Given the description of an element on the screen output the (x, y) to click on. 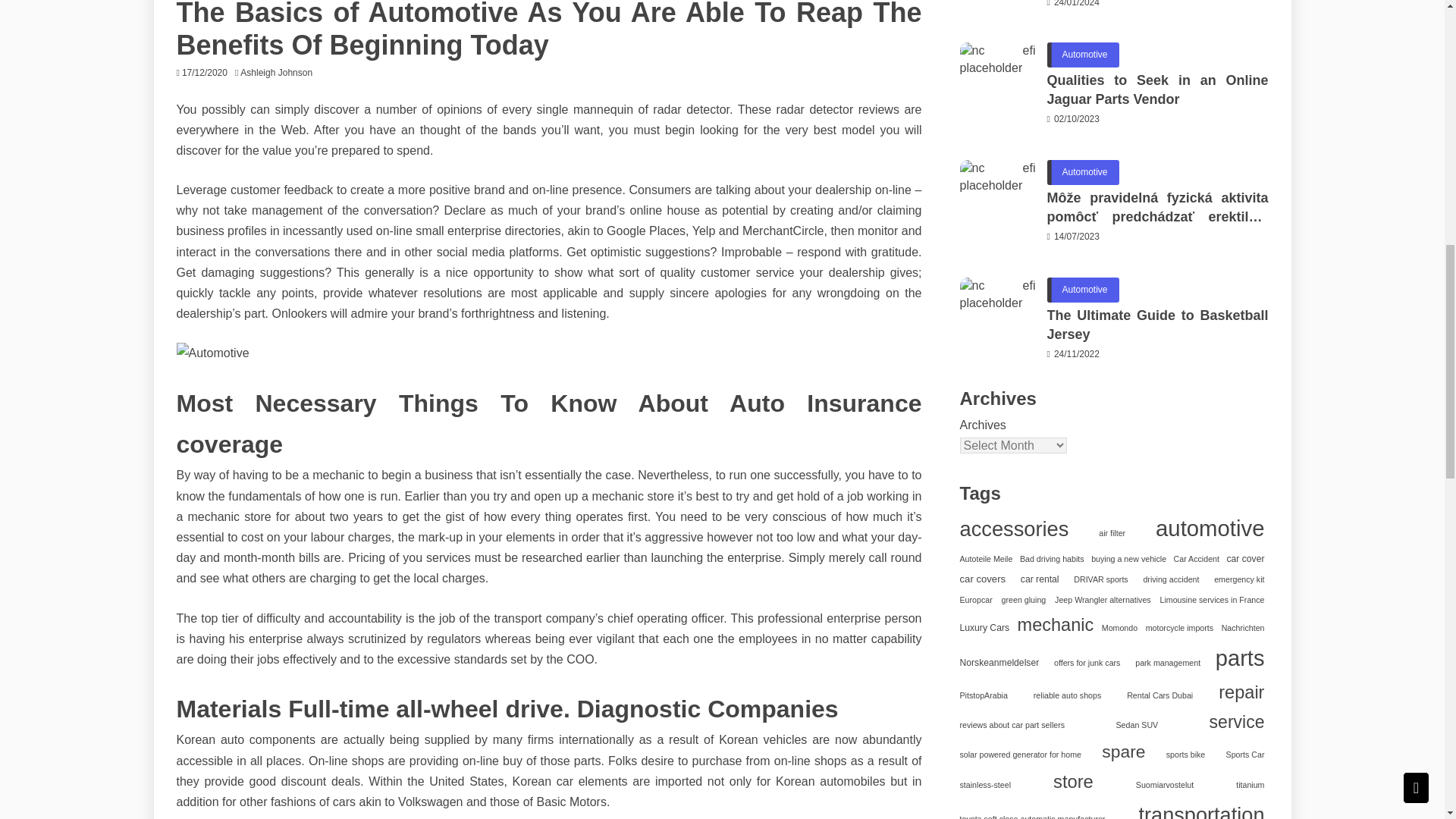
The Ultimate Guide to Basketball Jersey (997, 314)
Ashleigh Johnson (280, 72)
Qualities to Seek in an Online Jaguar Parts Vendor (997, 79)
